Given the description of an element on the screen output the (x, y) to click on. 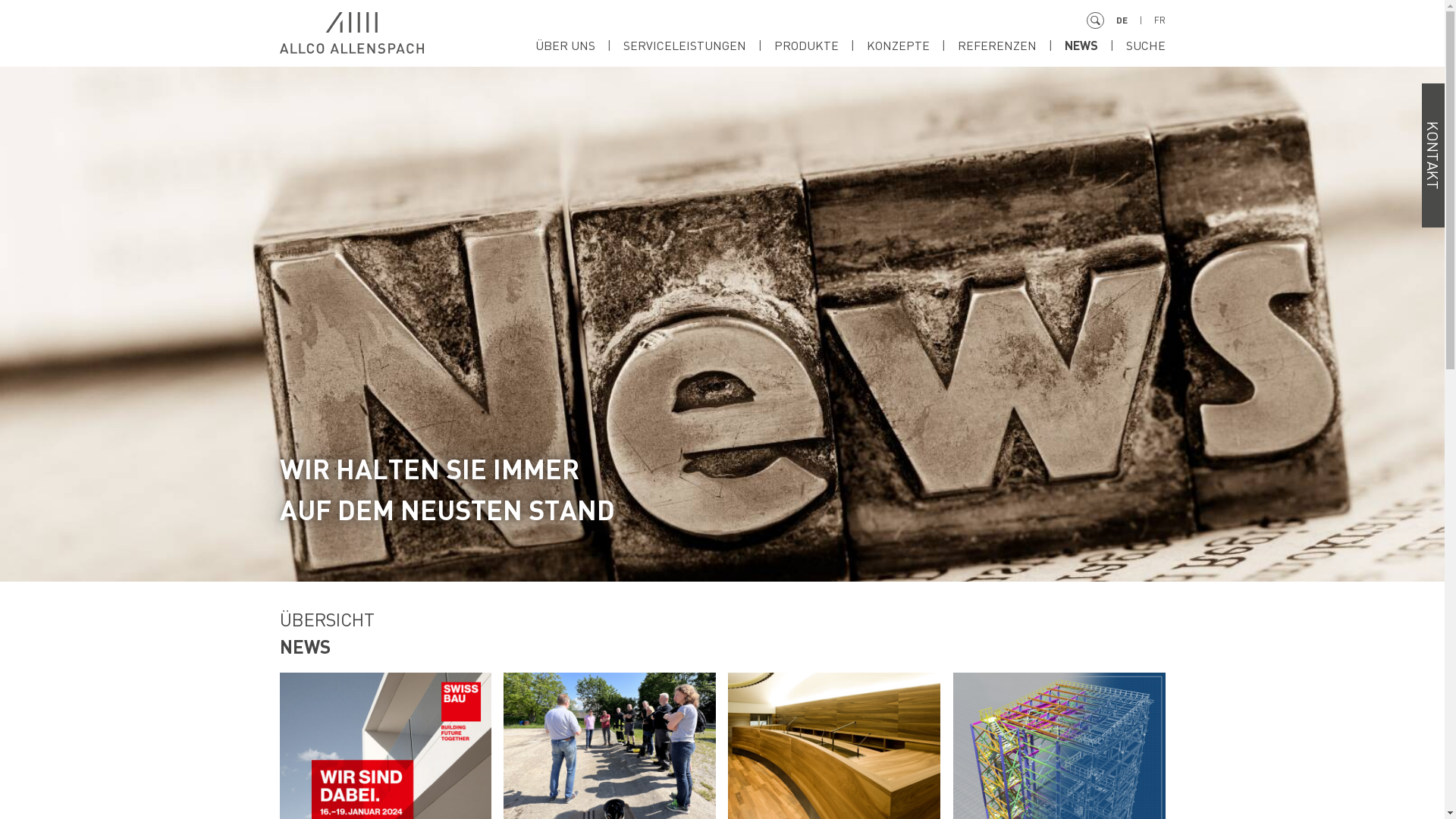
FR Element type: text (1159, 19)
SERVICELEISTUNGEN Element type: text (698, 45)
DE Element type: text (1135, 19)
NEWS Element type: text (1095, 45)
REFERENZEN Element type: text (1010, 45)
SUCHE Element type: text (1144, 45)
PRODUKTE Element type: text (819, 45)
KONZEPTE Element type: text (911, 45)
